Given the description of an element on the screen output the (x, y) to click on. 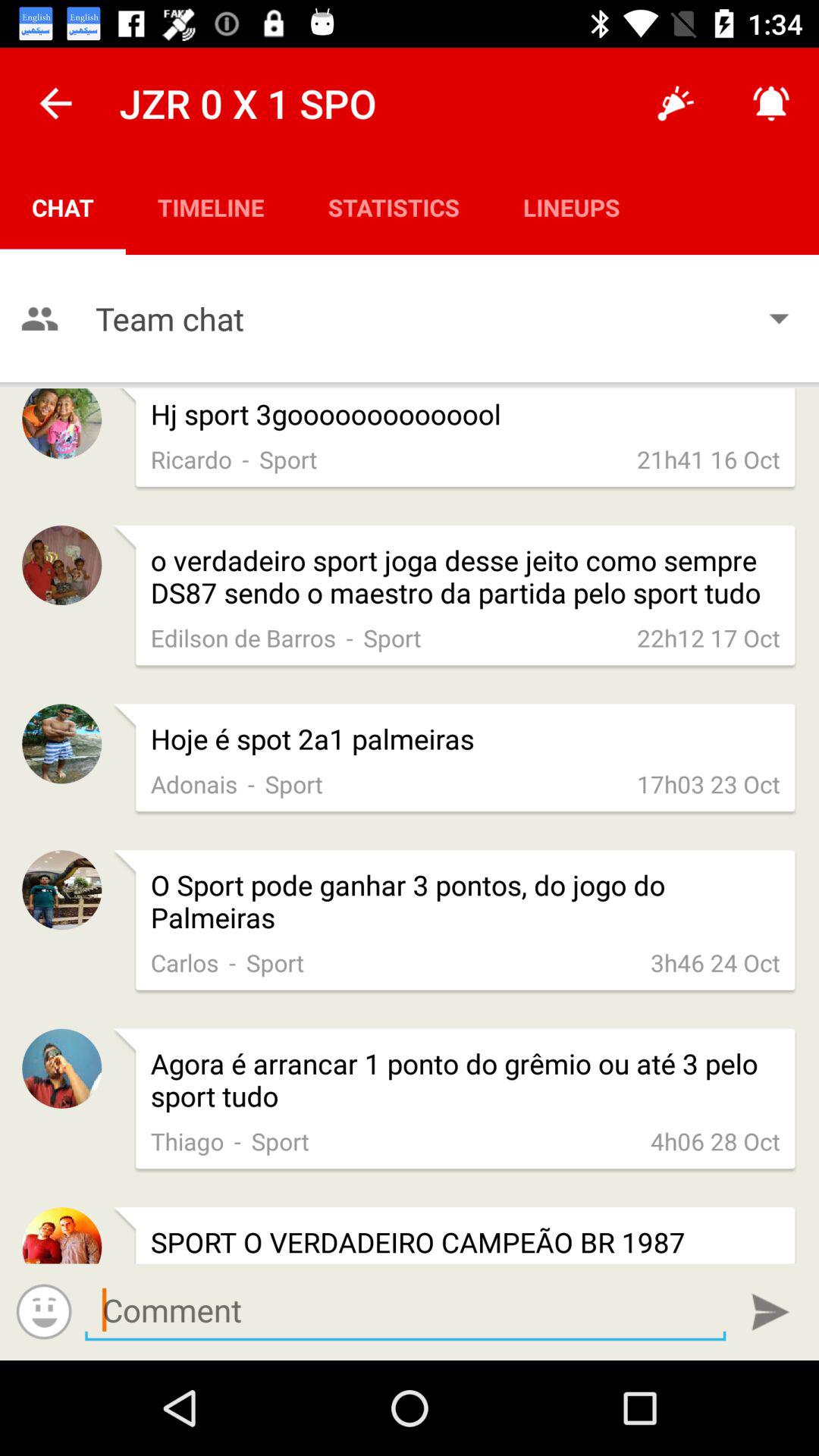
choose the app to the left of the jzr 0 x item (55, 103)
